Given the description of an element on the screen output the (x, y) to click on. 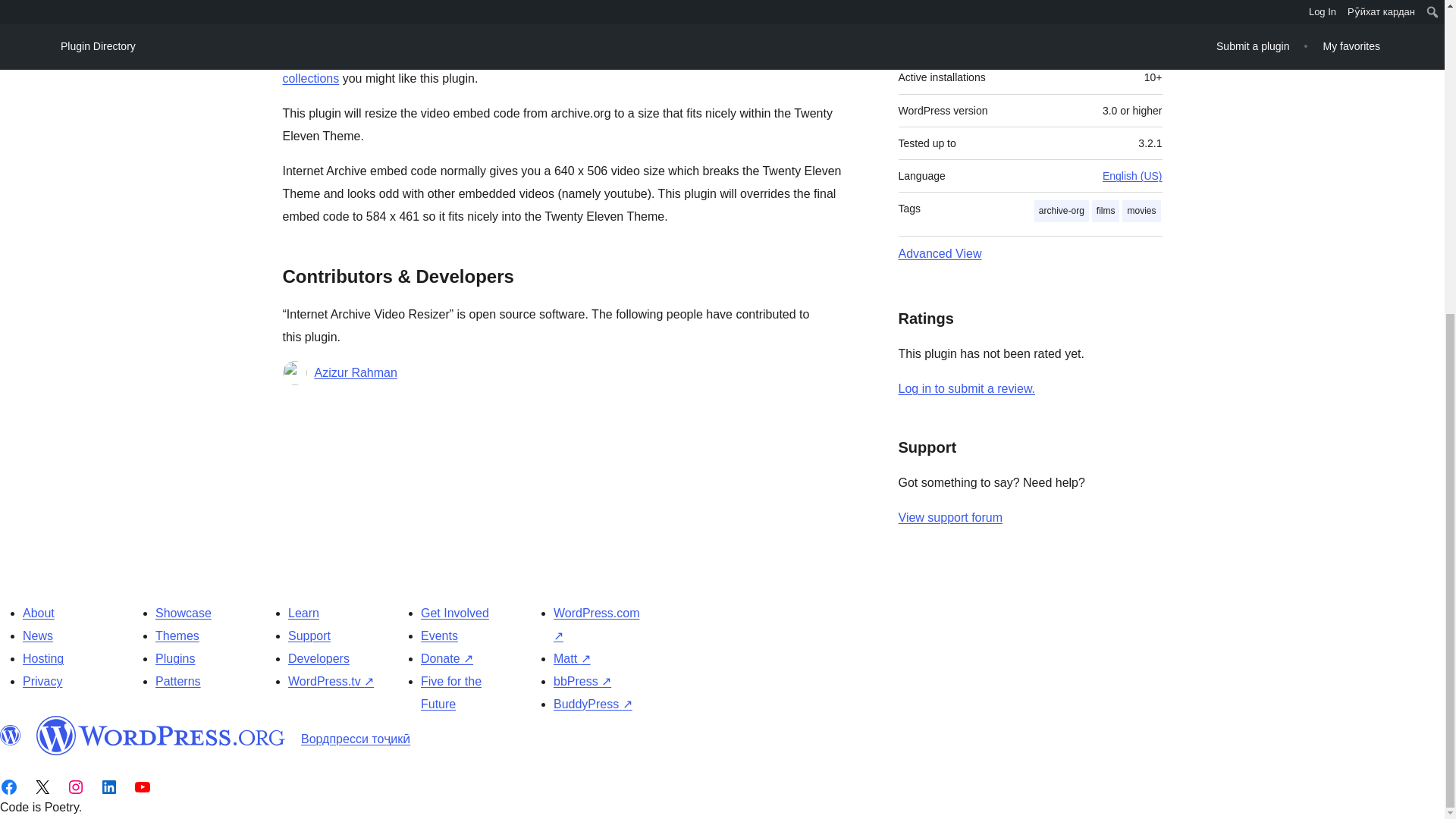
WordPress.org (160, 735)
Log in to WordPress.org (966, 388)
Internet Archive Community Video (563, 67)
Azizur Rahman (355, 372)
Internet Archive Community Video collections (563, 67)
WordPress.org (10, 735)
